Given the description of an element on the screen output the (x, y) to click on. 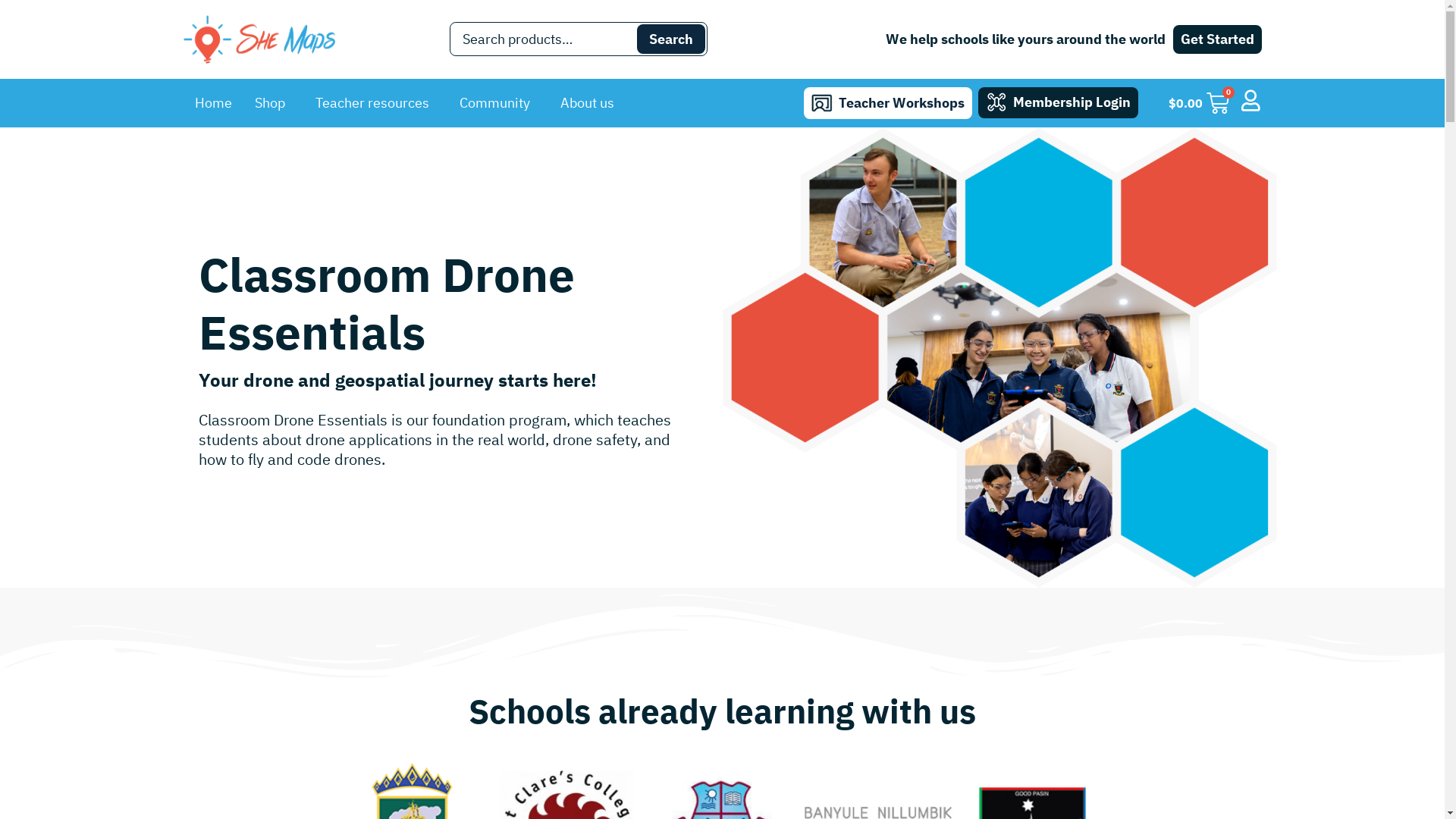
Shop Element type: text (272, 102)
$0.00
0 Element type: text (1198, 103)
Membership Login Element type: text (1058, 102)
About us Element type: text (591, 102)
Get Started Element type: text (1216, 39)
Teacher resources Element type: text (375, 102)
Teacher Workshops Element type: text (887, 103)
Home Element type: text (213, 102)
Community Element type: text (497, 102)
Search Element type: text (671, 38)
